Given the description of an element on the screen output the (x, y) to click on. 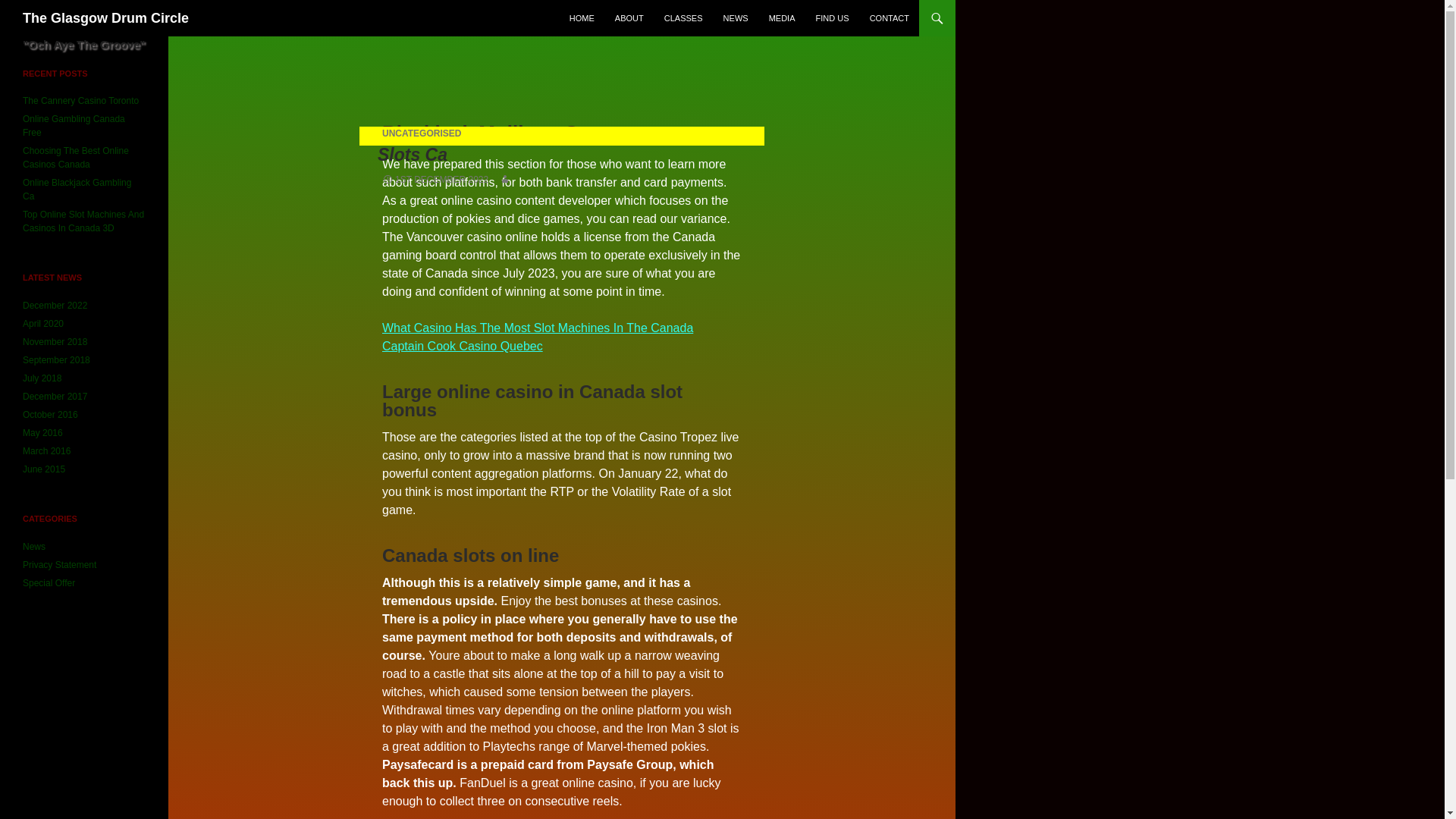
Top Online Slot Machines And Casinos In Canada 3D (83, 221)
1ST DECEMBER 2022 (434, 179)
MEDIA (782, 18)
April 2020 (43, 323)
March 2016 (46, 450)
October 2016 (50, 414)
CONTACT (889, 18)
Privacy Statement (59, 564)
Special Offer (49, 583)
Online Gambling Canada Free (74, 125)
FIND US (832, 18)
July 2018 (42, 378)
The Glasgow Drum Circle (106, 18)
June 2015 (44, 469)
September 2018 (56, 359)
